Given the description of an element on the screen output the (x, y) to click on. 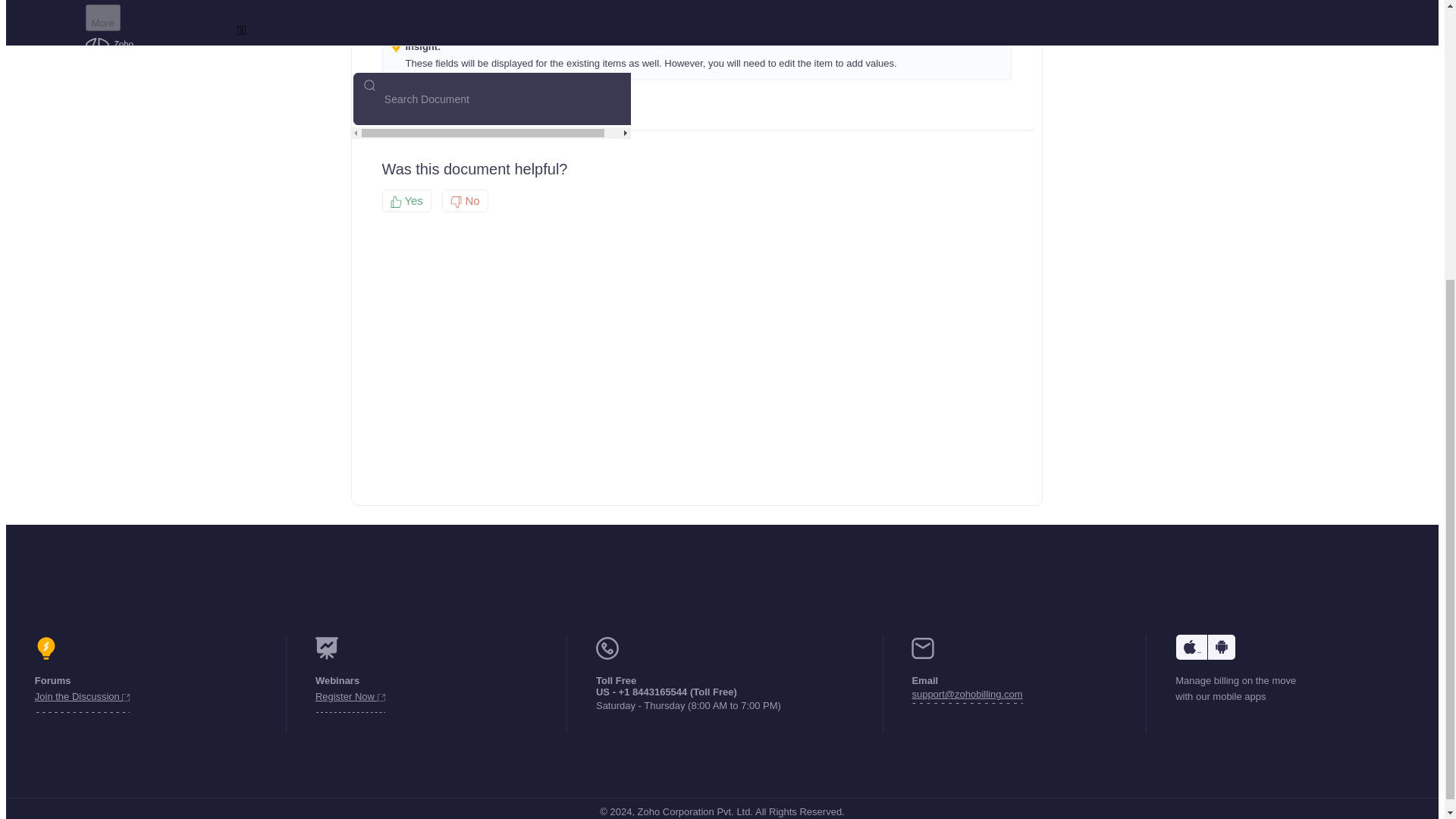
Register Now (350, 699)
Join the Discussion (82, 699)
